Given the description of an element on the screen output the (x, y) to click on. 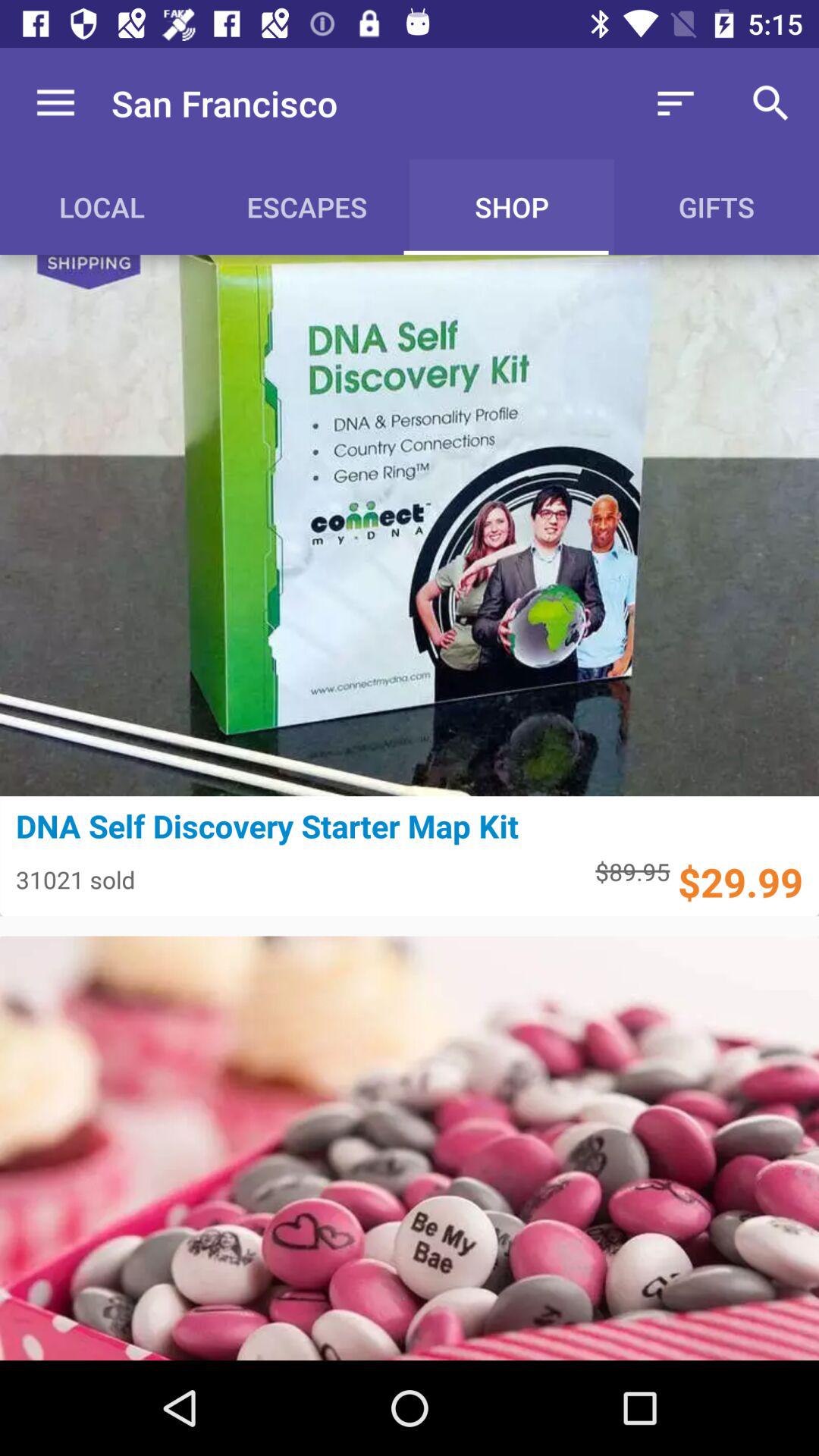
select the icon to the right of san francisco icon (675, 103)
